Given the description of an element on the screen output the (x, y) to click on. 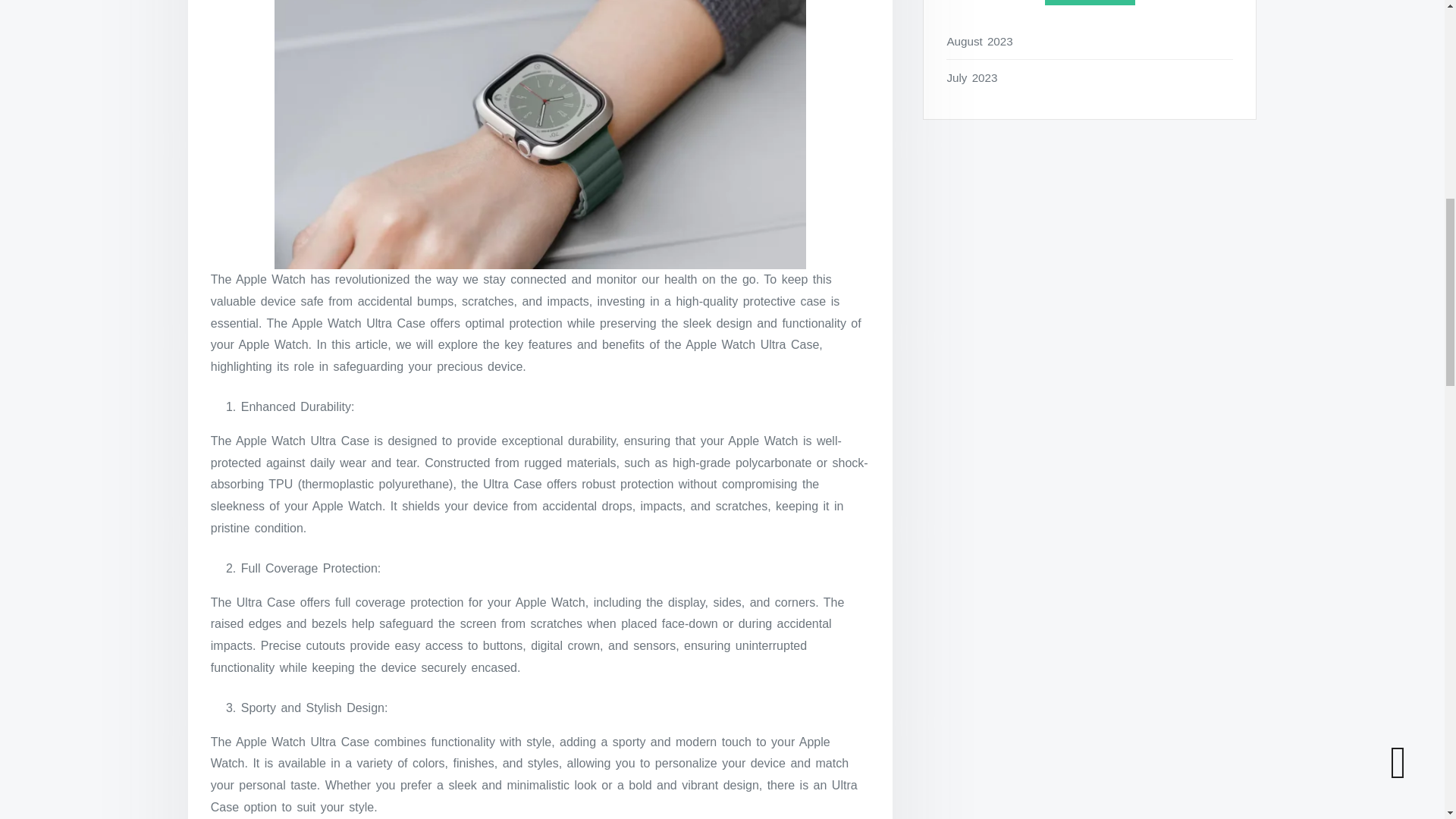
July 2023 (1089, 77)
August 2023 (1089, 41)
